Given the description of an element on the screen output the (x, y) to click on. 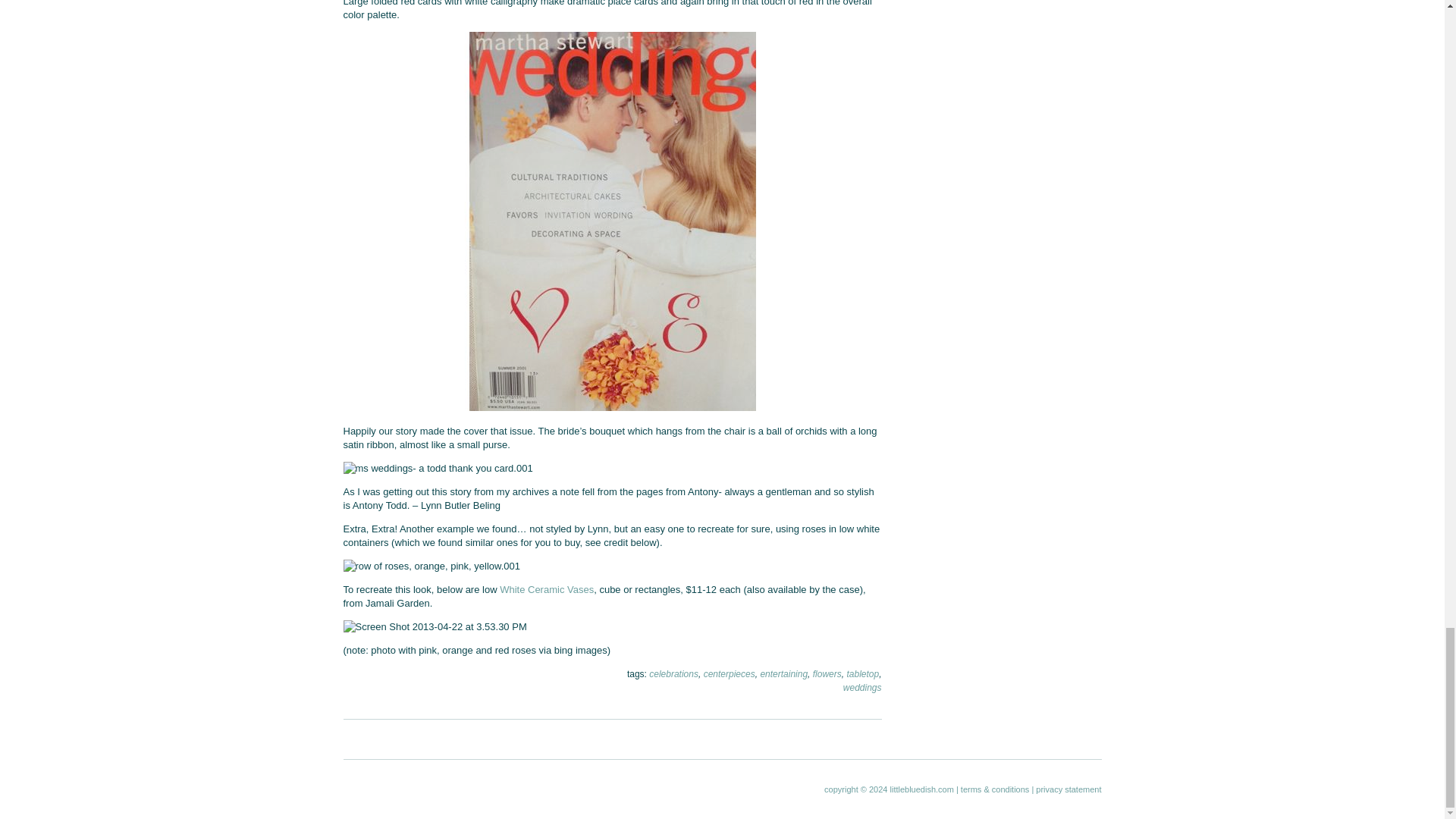
White Ceramic Vases (546, 589)
centerpieces (729, 674)
weddings (862, 687)
celebrations (673, 674)
flowers (826, 674)
tabletop (862, 674)
entertaining (784, 674)
